Given the description of an element on the screen output the (x, y) to click on. 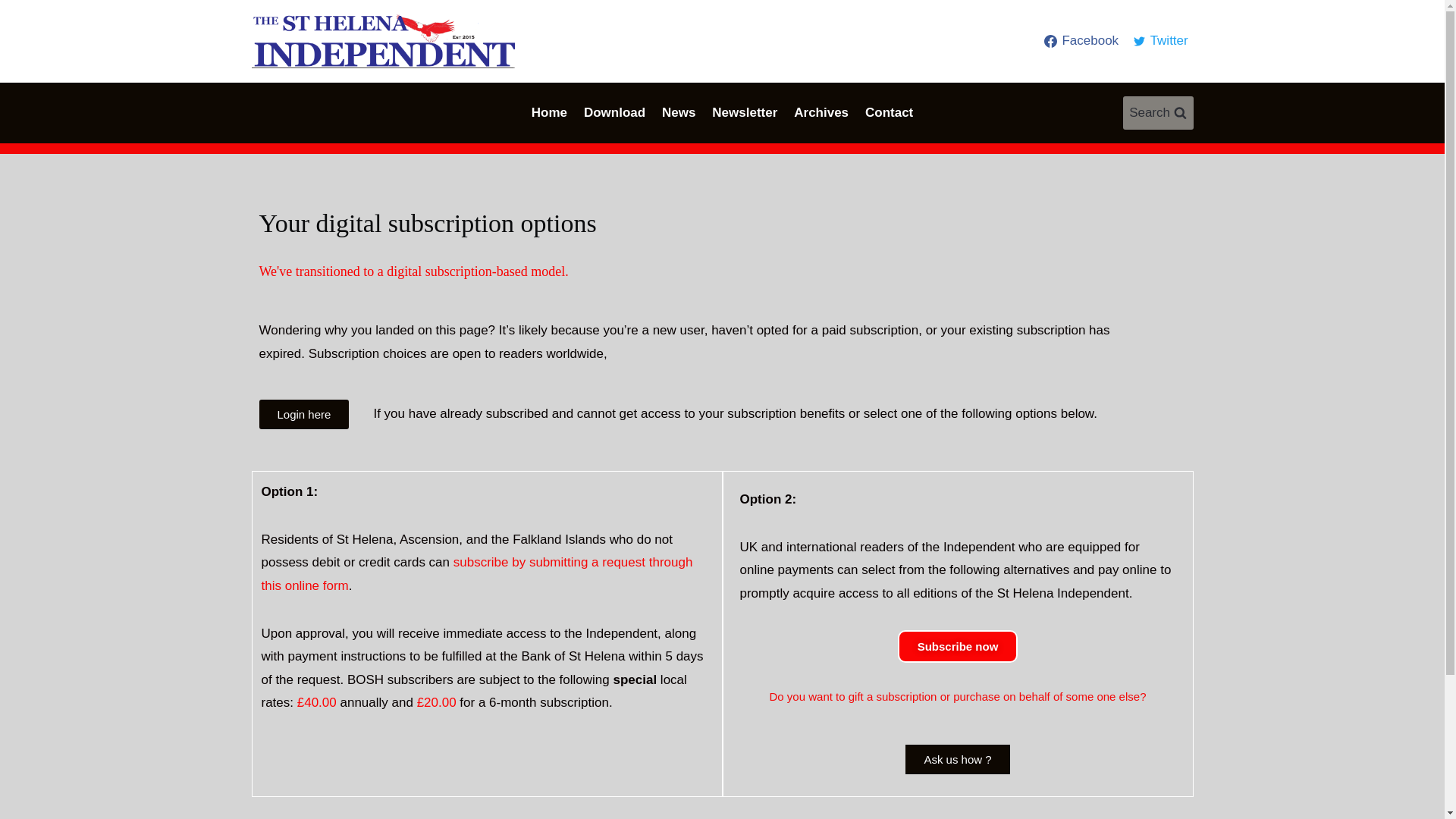
Facebook (1081, 40)
Ask us how ? (957, 758)
Download (614, 112)
Contact (889, 112)
Login here (304, 414)
Subscribe now (957, 645)
subscribe by submitting a request through this online form (476, 573)
Newsletter (744, 112)
News (678, 112)
Search (1157, 112)
Archives (821, 112)
Twitter (1159, 40)
Home (548, 112)
